Given the description of an element on the screen output the (x, y) to click on. 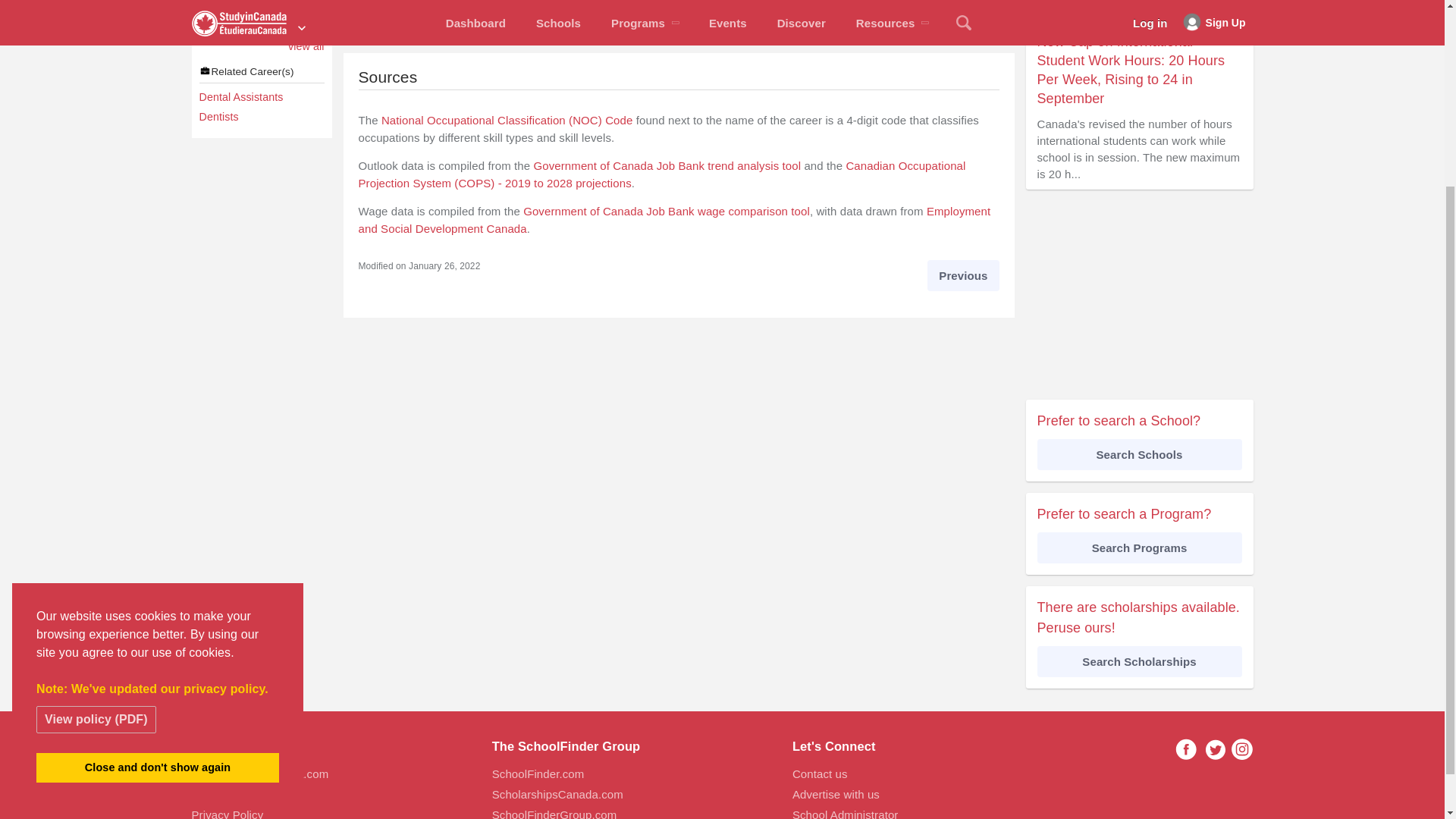
Vancouver Island University (260, 20)
Dentists (260, 117)
view all (306, 47)
Sources (896, 18)
Dental Assistants (260, 97)
Requirements (896, 1)
Profile (459, 1)
Close and don't show again (157, 521)
Outlook (678, 18)
Statistics (678, 1)
Advertisement (1138, 295)
